Given the description of an element on the screen output the (x, y) to click on. 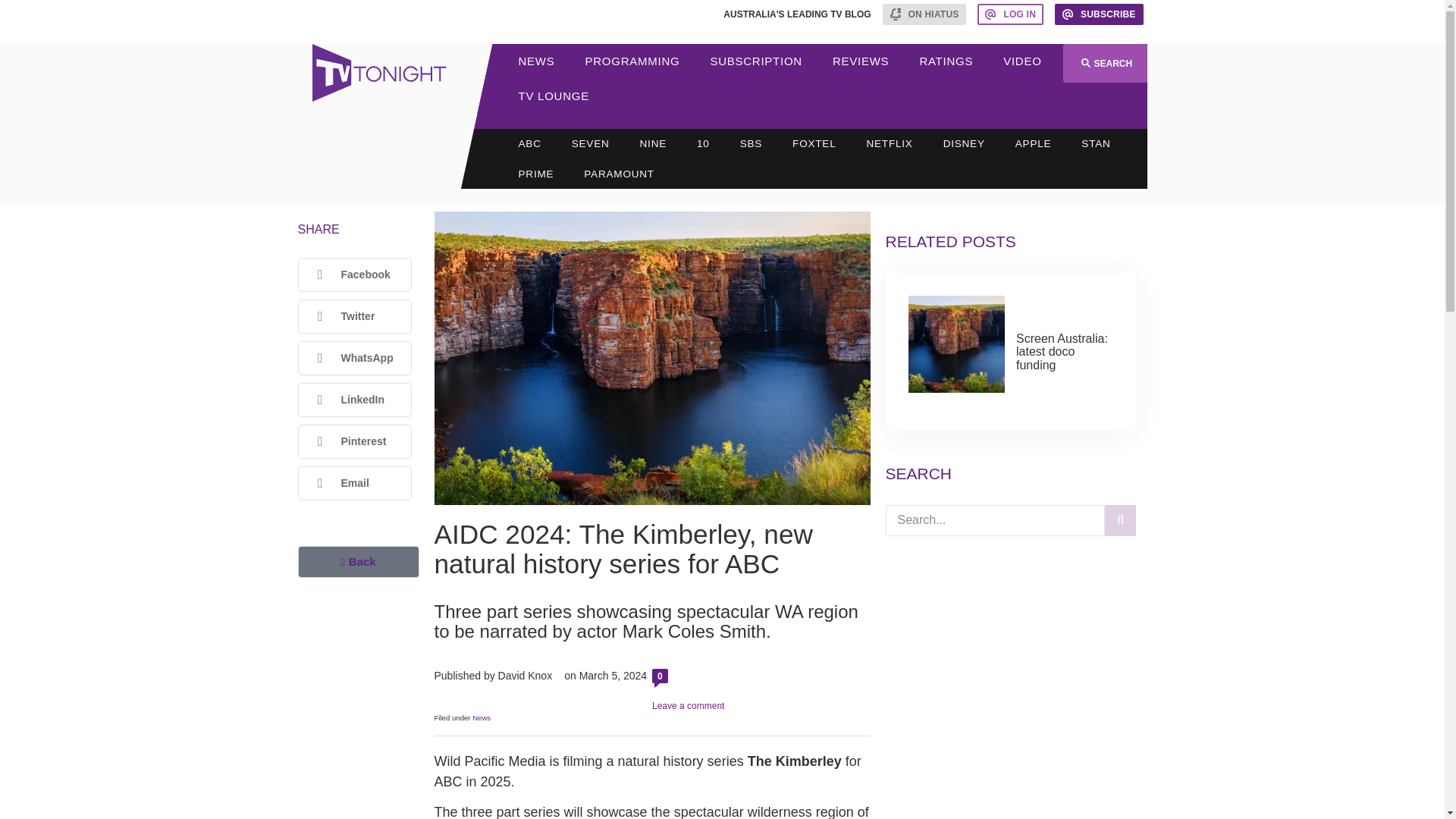
ON HIATUS (924, 14)
NEWS (536, 61)
ABC (529, 143)
TV LOUNGE (553, 95)
RATINGS (946, 61)
SUBSCRIBE (1098, 14)
VIDEO (1022, 61)
PROGRAMMING (632, 61)
SUBSCRIPTION (755, 61)
SEARCH (1104, 63)
LOG IN (1010, 14)
REVIEWS (860, 61)
